Given the description of an element on the screen output the (x, y) to click on. 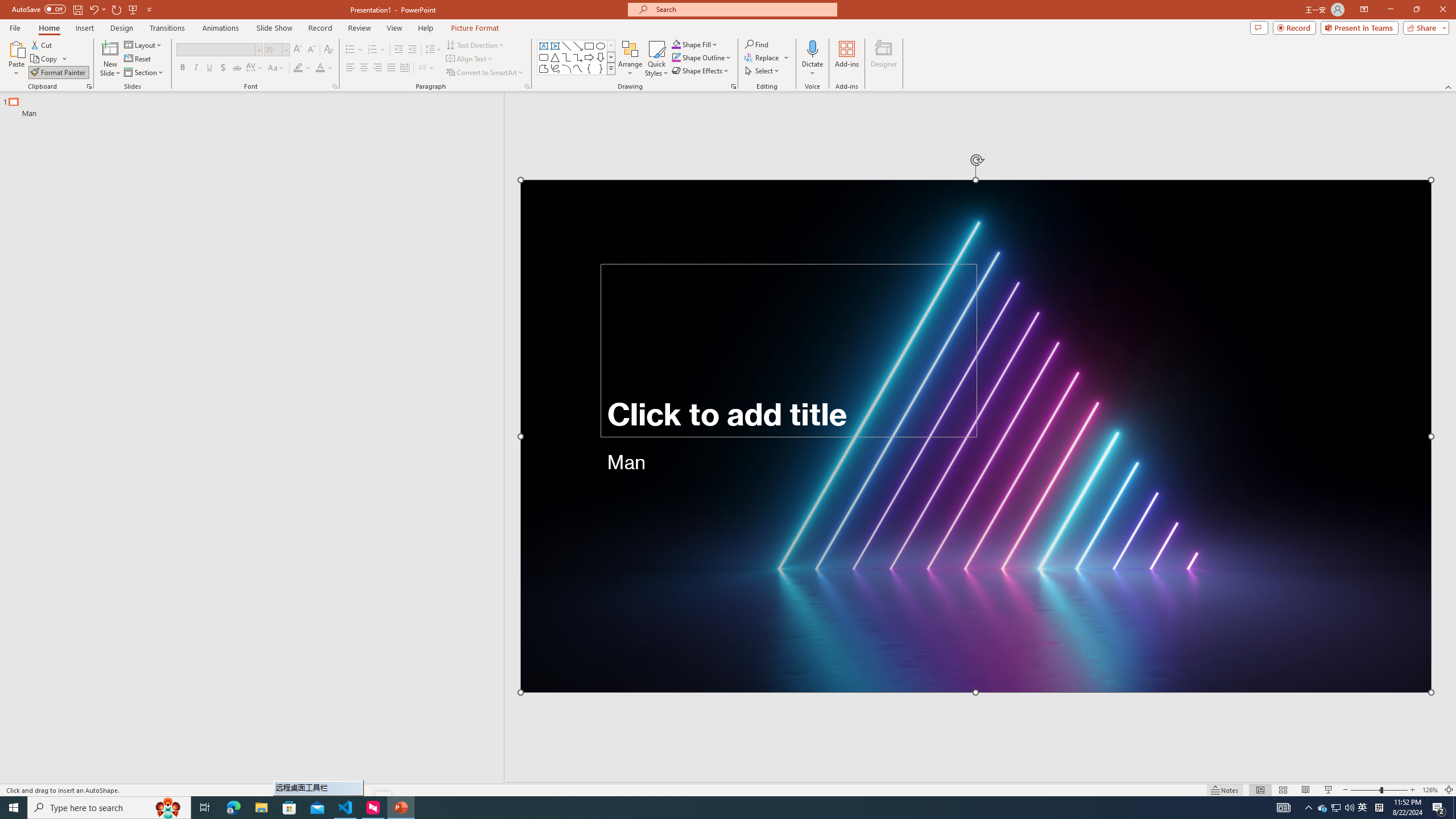
Left Brace (589, 68)
Font Color Red (320, 67)
Arrow: Right (589, 57)
Dictate (812, 58)
Align Left (349, 67)
Shape Outline Blue, Accent 1 (675, 56)
Right Brace (600, 68)
Arc (566, 68)
Font (219, 49)
